Given the description of an element on the screen output the (x, y) to click on. 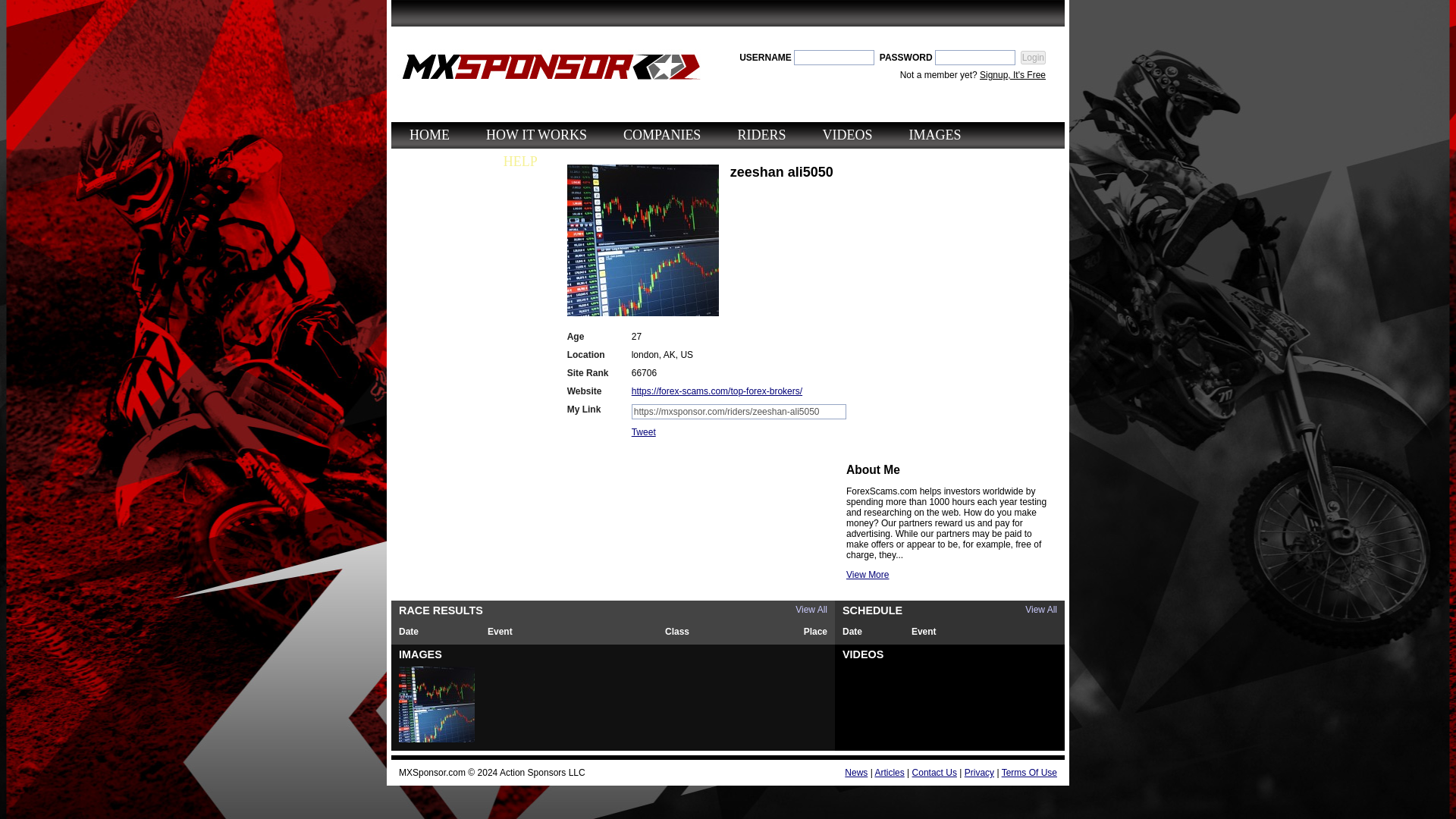
View More (866, 574)
Terms Of Use (1029, 772)
Tweet (643, 431)
HELP (520, 161)
IMAGES (934, 135)
VIDEOS (847, 135)
Articles (889, 772)
RIDERS (761, 135)
Login (1032, 57)
News (855, 772)
Login (1032, 57)
HOME (429, 135)
SAVINGS (438, 161)
Privacy (978, 772)
HOW IT WORKS (536, 135)
